Given the description of an element on the screen output the (x, y) to click on. 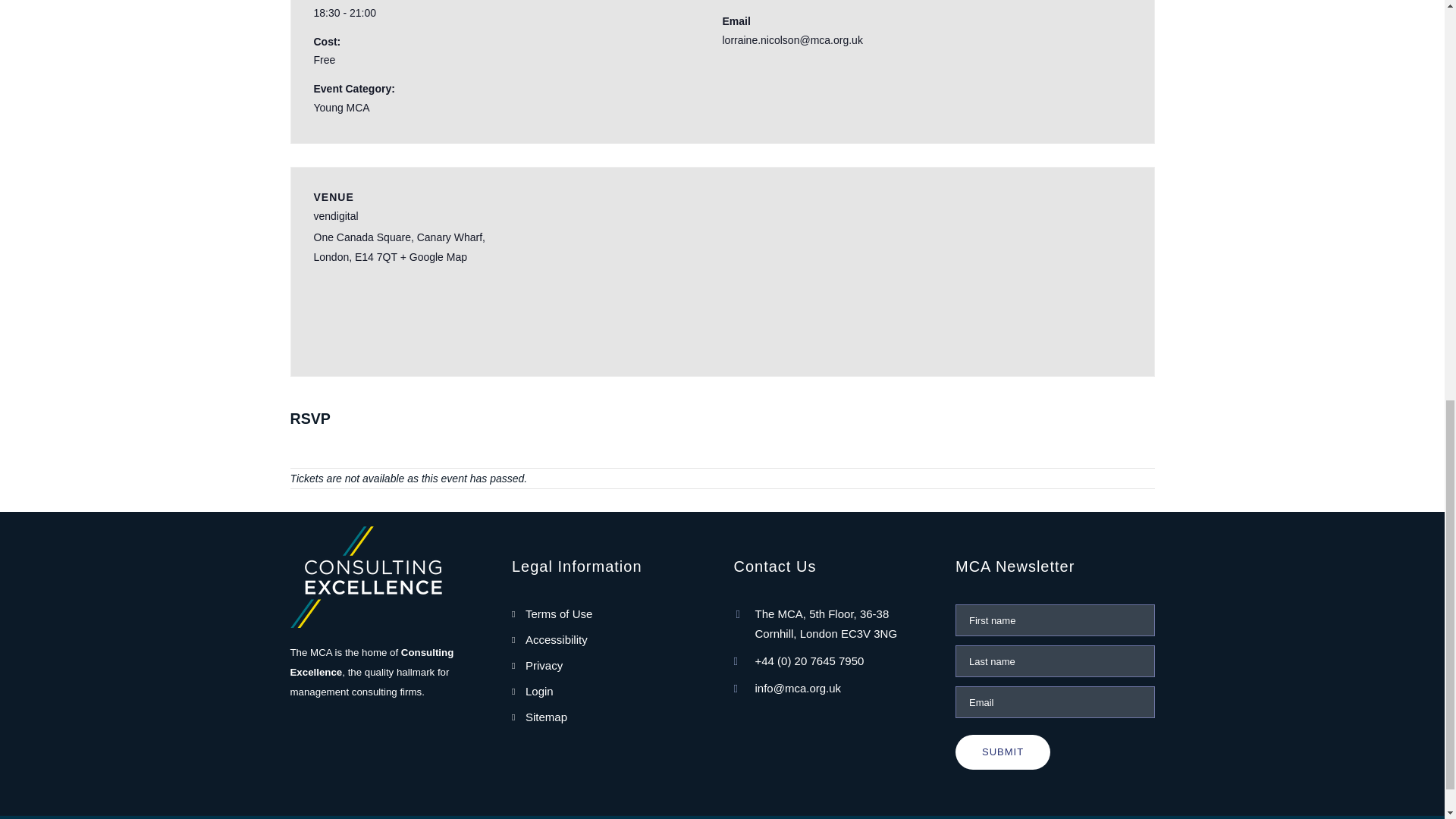
Email (1054, 702)
2020-03-10 (509, 13)
Click to view a Google Map (433, 256)
First name (1054, 620)
Last name (1054, 661)
Google maps iframe displaying the address to vendigital (1051, 271)
